Given the description of an element on the screen output the (x, y) to click on. 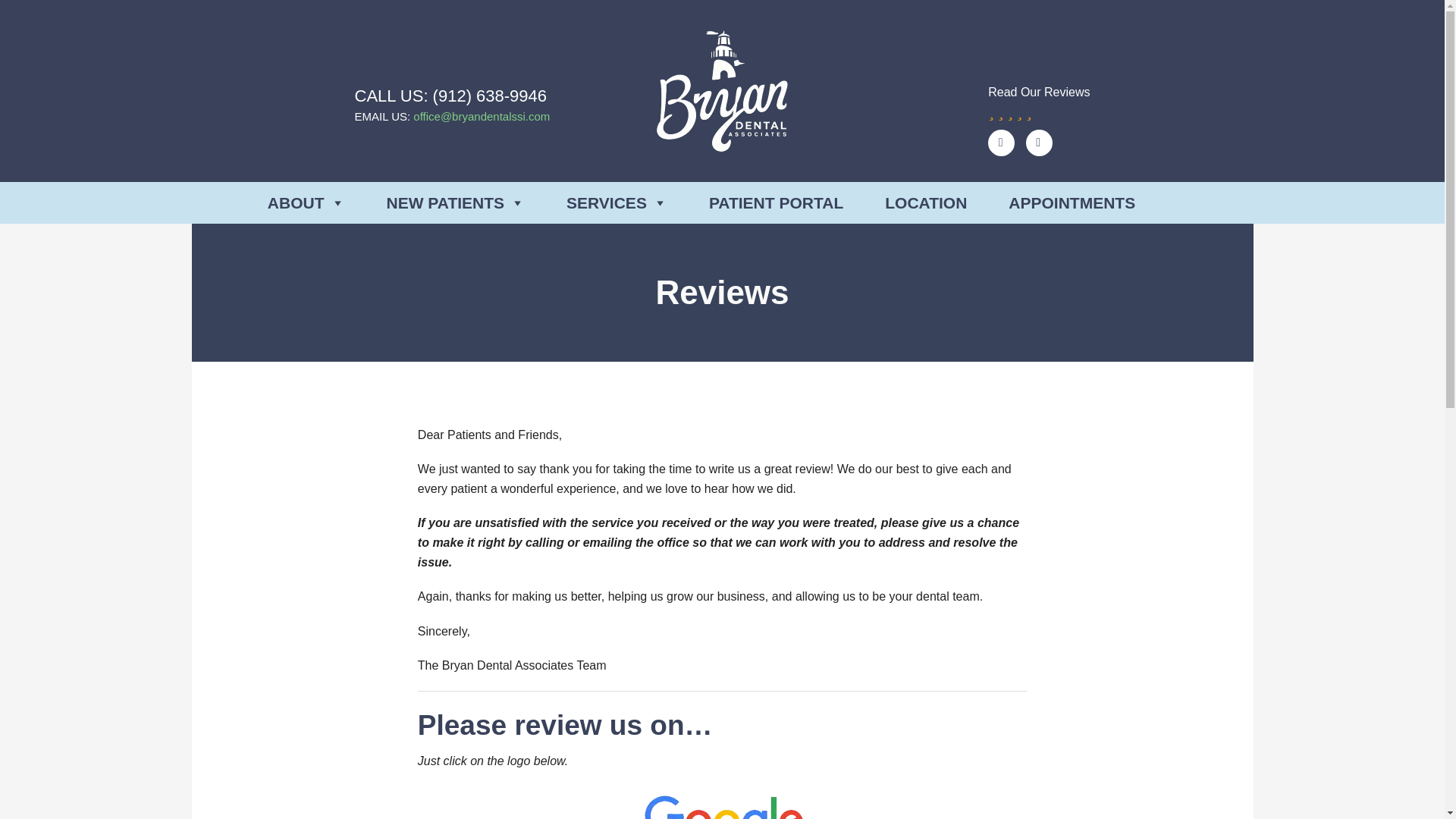
ABOUT (306, 202)
Google Maps (1001, 142)
SERVICES (616, 202)
Facebook (1039, 142)
APPOINTMENTS (1072, 202)
LOCATION (925, 202)
Read Our Reviews (1038, 100)
NEW PATIENTS (456, 202)
PATIENT PORTAL (776, 202)
